Given the description of an element on the screen output the (x, y) to click on. 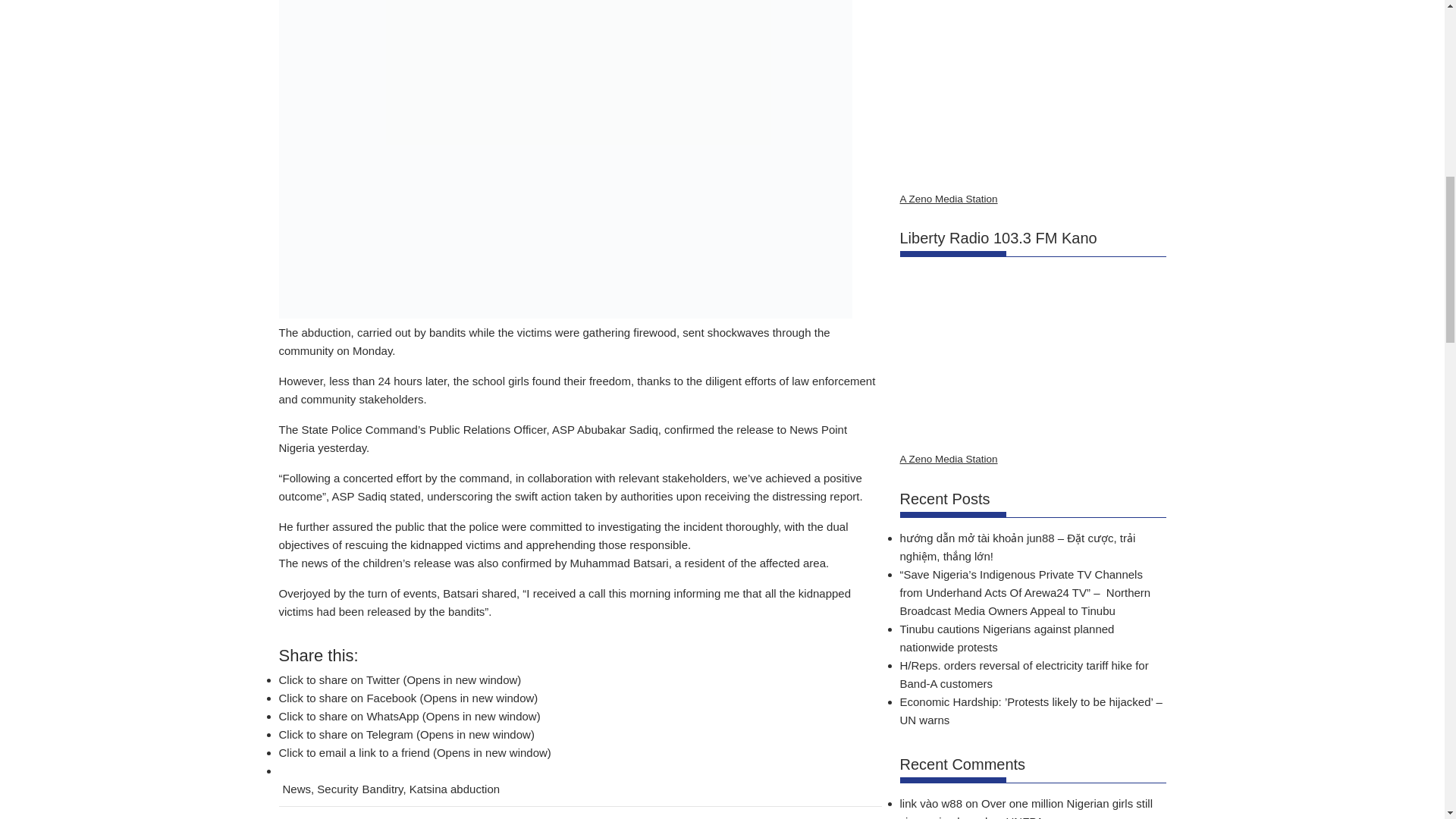
Click to share on Facebook (408, 697)
Click to email a link to a friend (415, 752)
Click to share on Telegram (406, 734)
News (296, 788)
Katsina abduction (454, 788)
Click to share on Twitter (400, 679)
Security (337, 788)
Click to share on WhatsApp (409, 716)
Banditry (382, 788)
